Given the description of an element on the screen output the (x, y) to click on. 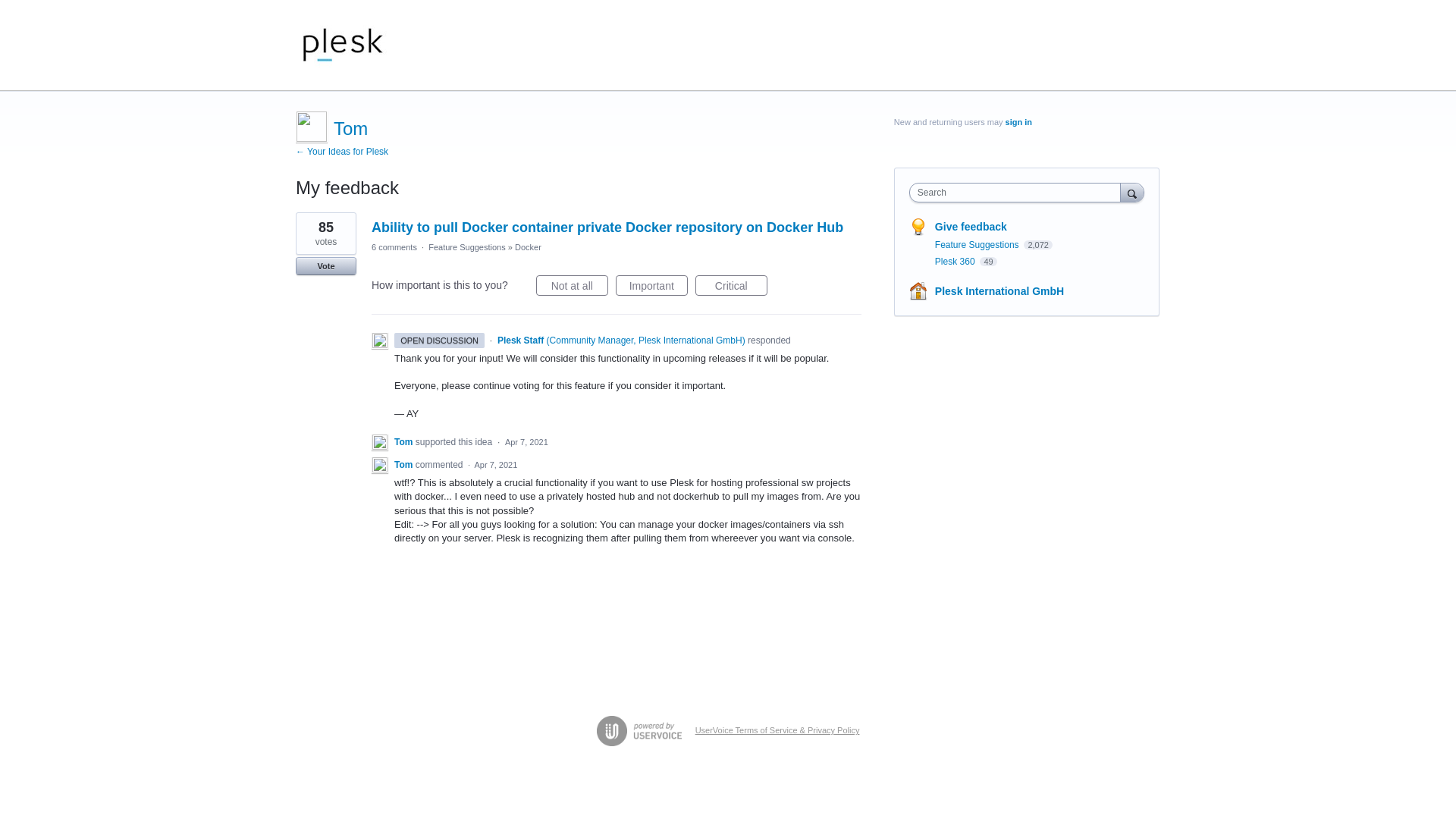
Tom (404, 464)
6 comments (393, 246)
Not at all (571, 285)
Important (651, 285)
Vote (325, 266)
View all ideas in Feature Suggestions (978, 244)
sign in (1019, 121)
OPEN DISCUSSION (439, 339)
Tom (404, 441)
Tom (350, 127)
Your Ideas for Plesk (342, 45)
Docker (528, 246)
This idea is open discussion - updated over 5 years ago (439, 340)
Critical (731, 285)
